Given the description of an element on the screen output the (x, y) to click on. 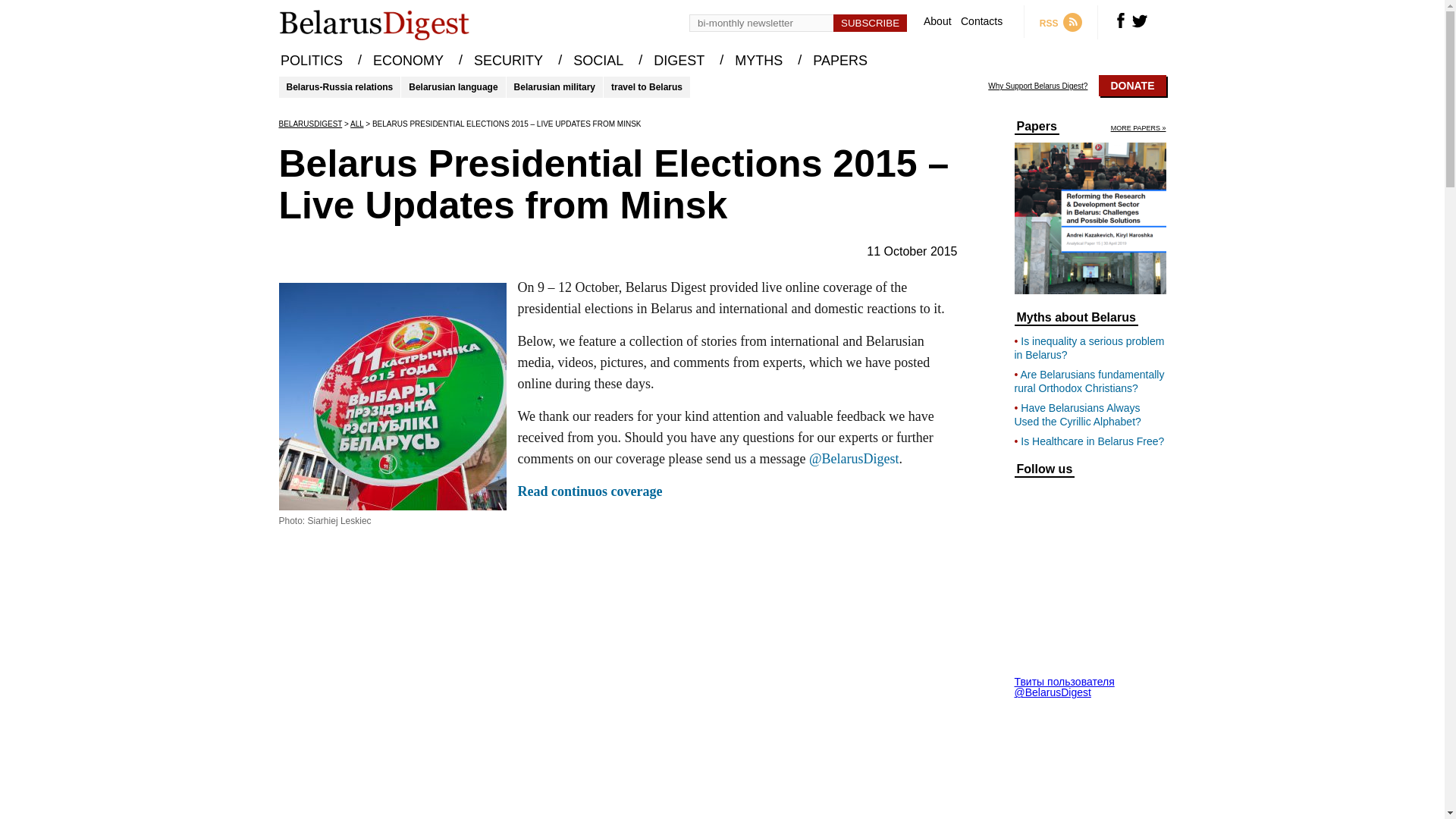
Belarusian military (554, 86)
Subscribe (869, 22)
Belarus-Russia relations (340, 86)
Read continuos coverage (589, 491)
RSS (1068, 21)
Contacts (981, 21)
DIGEST (678, 60)
DONATE (1132, 85)
Why Support Belarus Digest? (1037, 86)
Belarusian language (453, 86)
Go to the All Category archives. (356, 123)
About (937, 21)
travel to Belarus (647, 86)
POLITICS (311, 60)
ALL (356, 123)
